Given the description of an element on the screen output the (x, y) to click on. 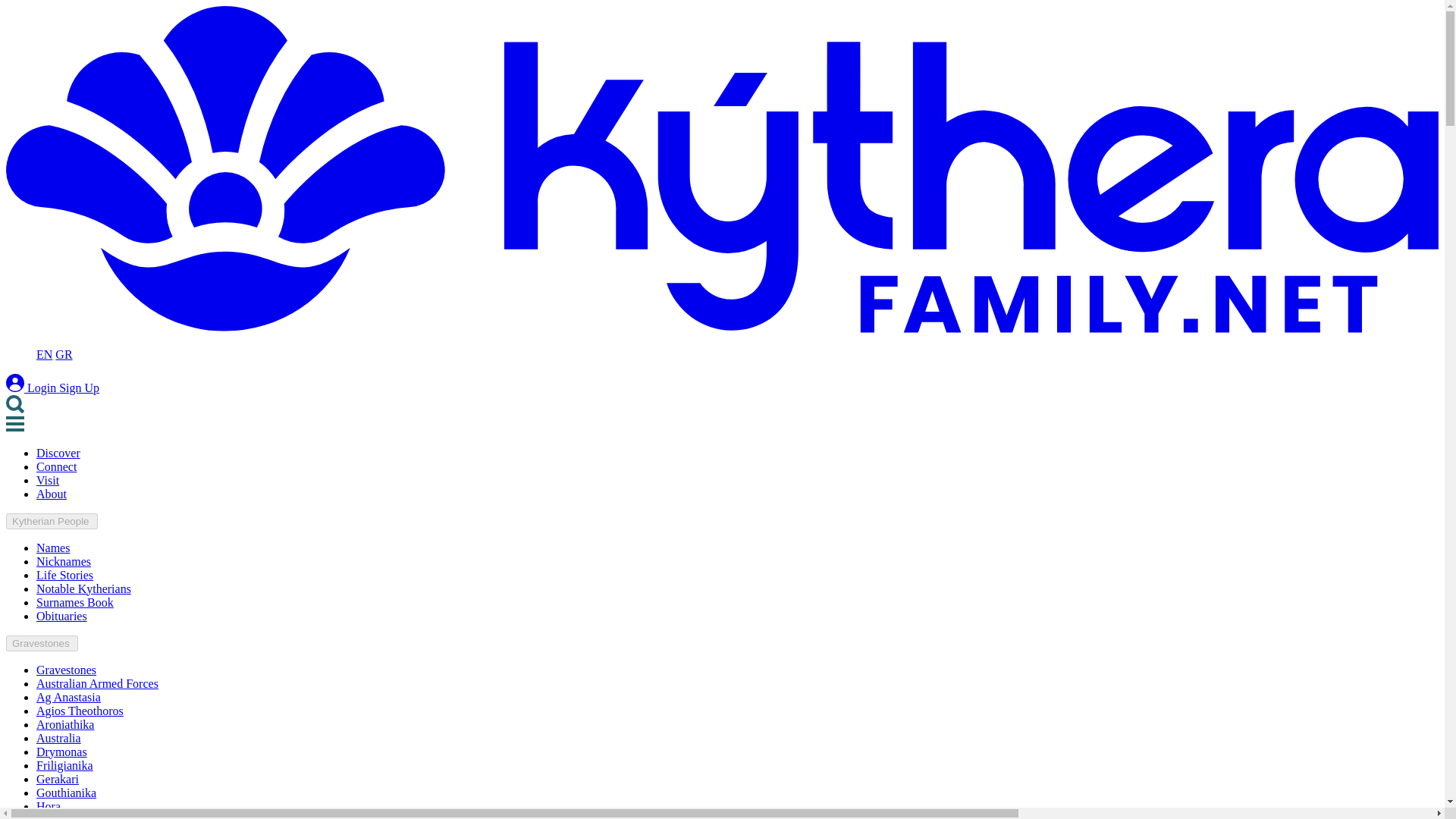
Connect (56, 466)
Aroniathika (65, 724)
Gravestones (41, 643)
GR (63, 354)
Life Stories (64, 574)
Hora (48, 806)
Gravestones (66, 669)
Friligianika (64, 765)
Friligianika (64, 765)
Gerakari (57, 779)
